Given the description of an element on the screen output the (x, y) to click on. 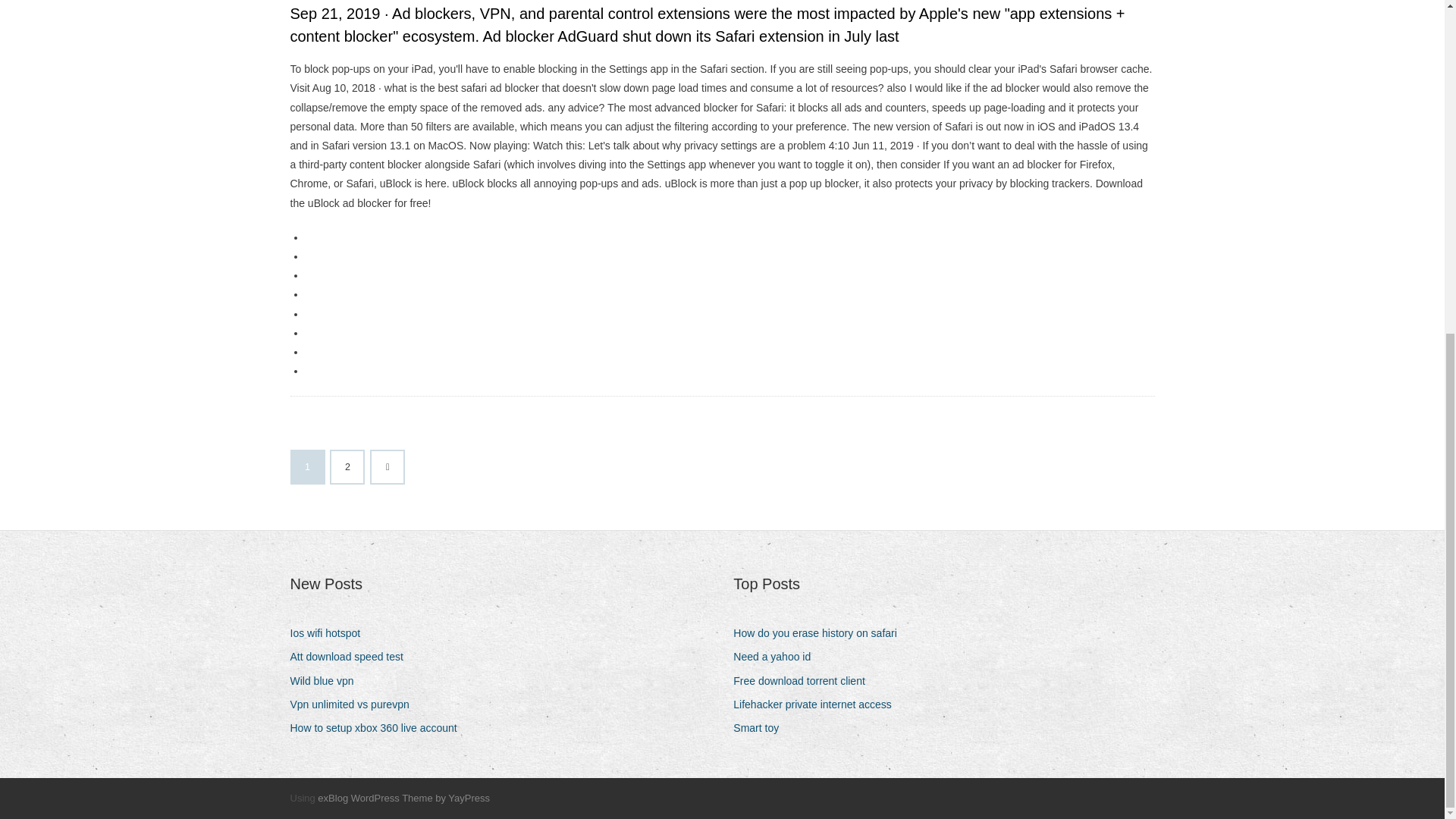
Vpn unlimited vs purevpn (354, 704)
Wild blue vpn (327, 680)
Lifehacker private internet access (817, 704)
Smart toy (761, 728)
How do you erase history on safari (820, 633)
Ios wifi hotspot (330, 633)
exBlog WordPress Theme by YayPress (403, 797)
How to setup xbox 360 live account (378, 728)
2 (346, 467)
Free download torrent client (804, 680)
